Given the description of an element on the screen output the (x, y) to click on. 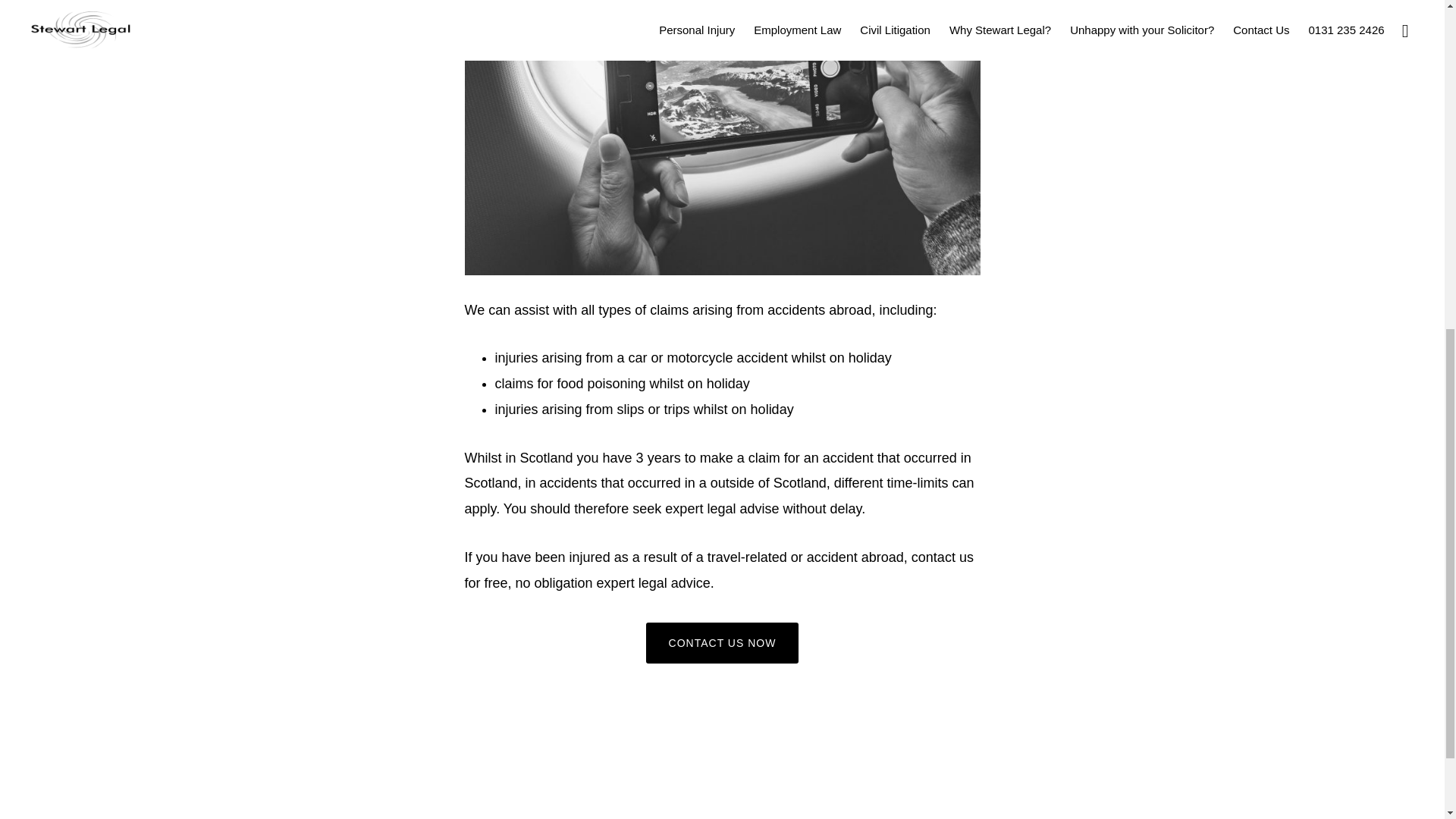
UNHAPPY WITH YOUR SOLICITOR? (868, 170)
WHY STEWART LEGAL? (706, 170)
CONTACT US (1005, 170)
EMPLOYMENT LAW (480, 170)
CIVIL LITIGATION (587, 170)
PERSONAL INJURY (368, 170)
CONTACT US NOW (722, 642)
0131 235 2426 (1089, 170)
